Given the description of an element on the screen output the (x, y) to click on. 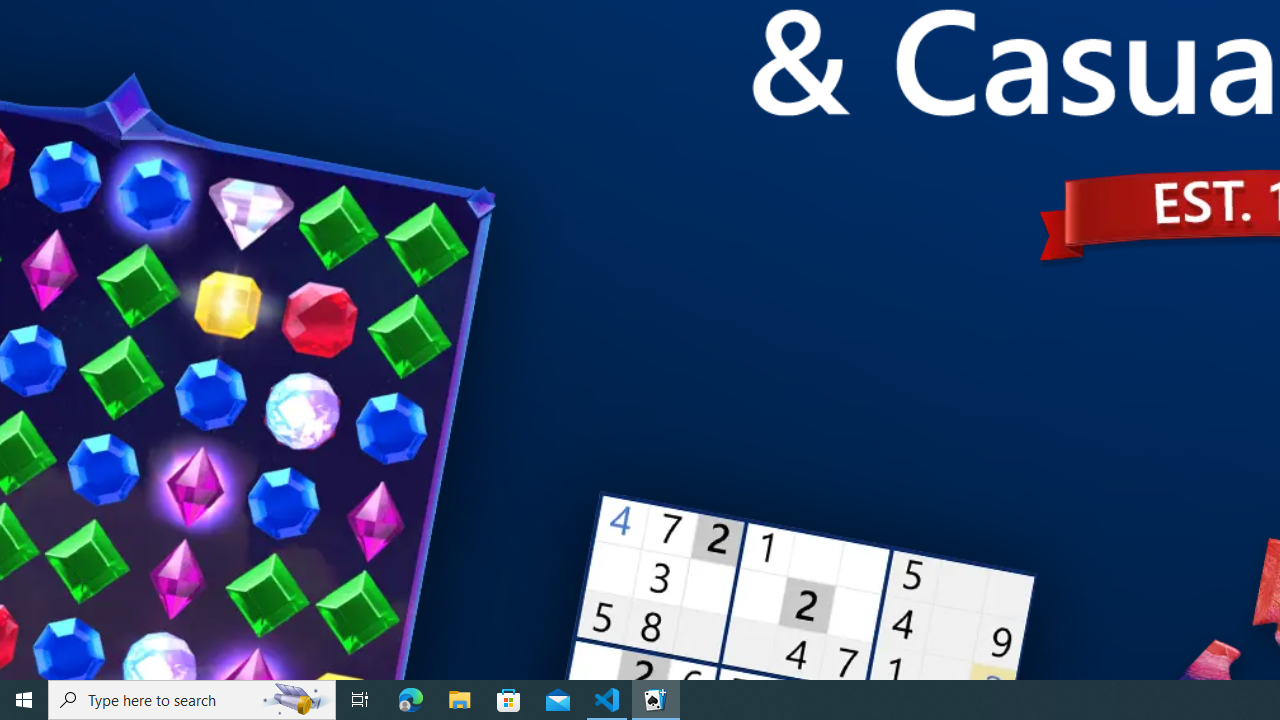
Microsoft Store (509, 699)
Type here to search (191, 699)
Start (24, 699)
File Explorer (460, 699)
Search highlights icon opens search home window (295, 699)
Task View (359, 699)
Visual Studio Code - 1 running window (607, 699)
Solitaire & Casual Games - 1 running window (656, 699)
Microsoft Edge (411, 699)
